Given the description of an element on the screen output the (x, y) to click on. 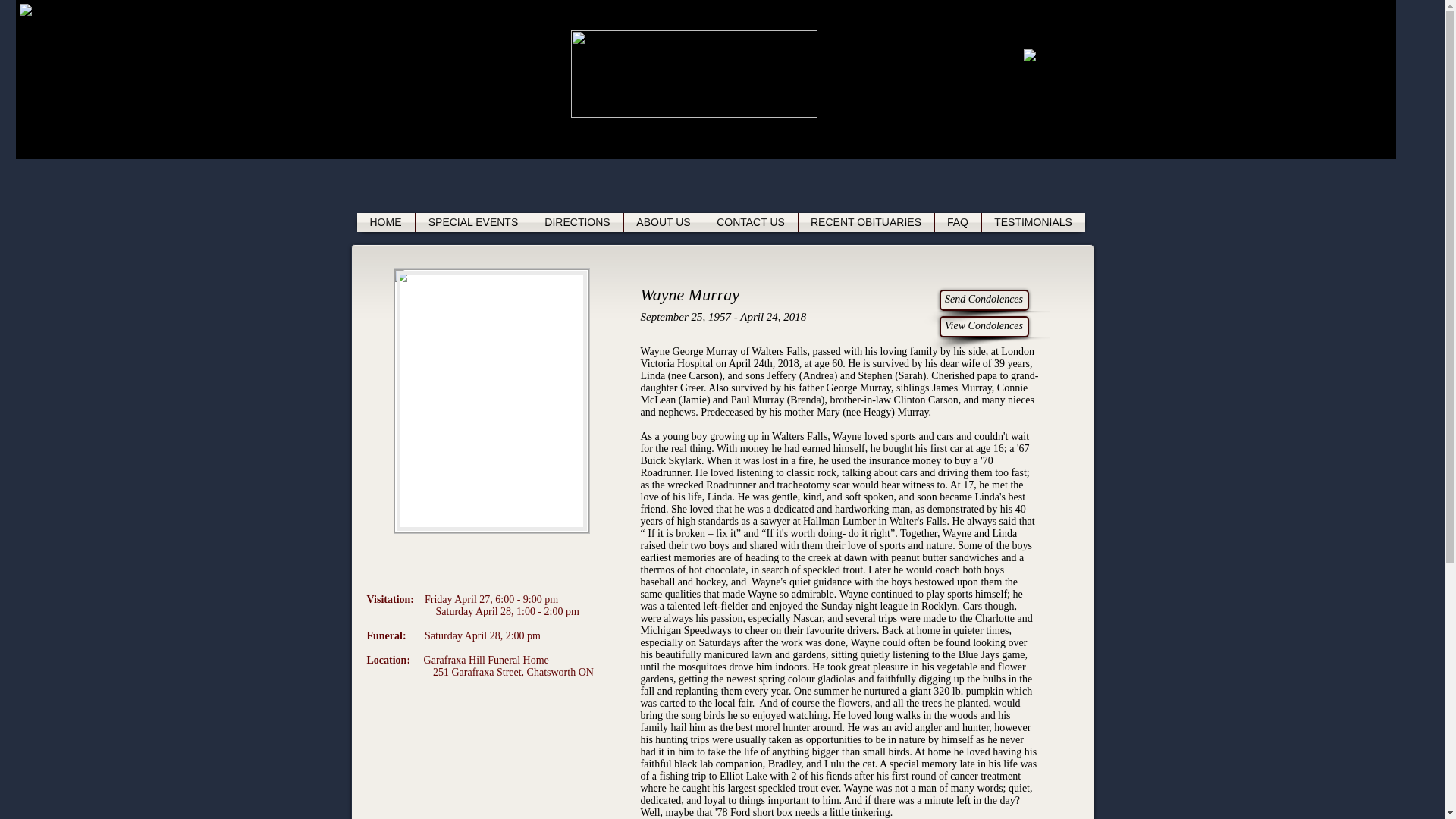
ABOUT US (663, 221)
SPECIAL EVENTS (472, 221)
DIRECTIONS (577, 221)
TESTIMONIALS (1032, 221)
HOME (384, 221)
CONTACT US (749, 221)
RECENT OBITUARIES (865, 221)
View Condolences (983, 326)
FAQ (956, 221)
Send Condolences (983, 300)
